Given the description of an element on the screen output the (x, y) to click on. 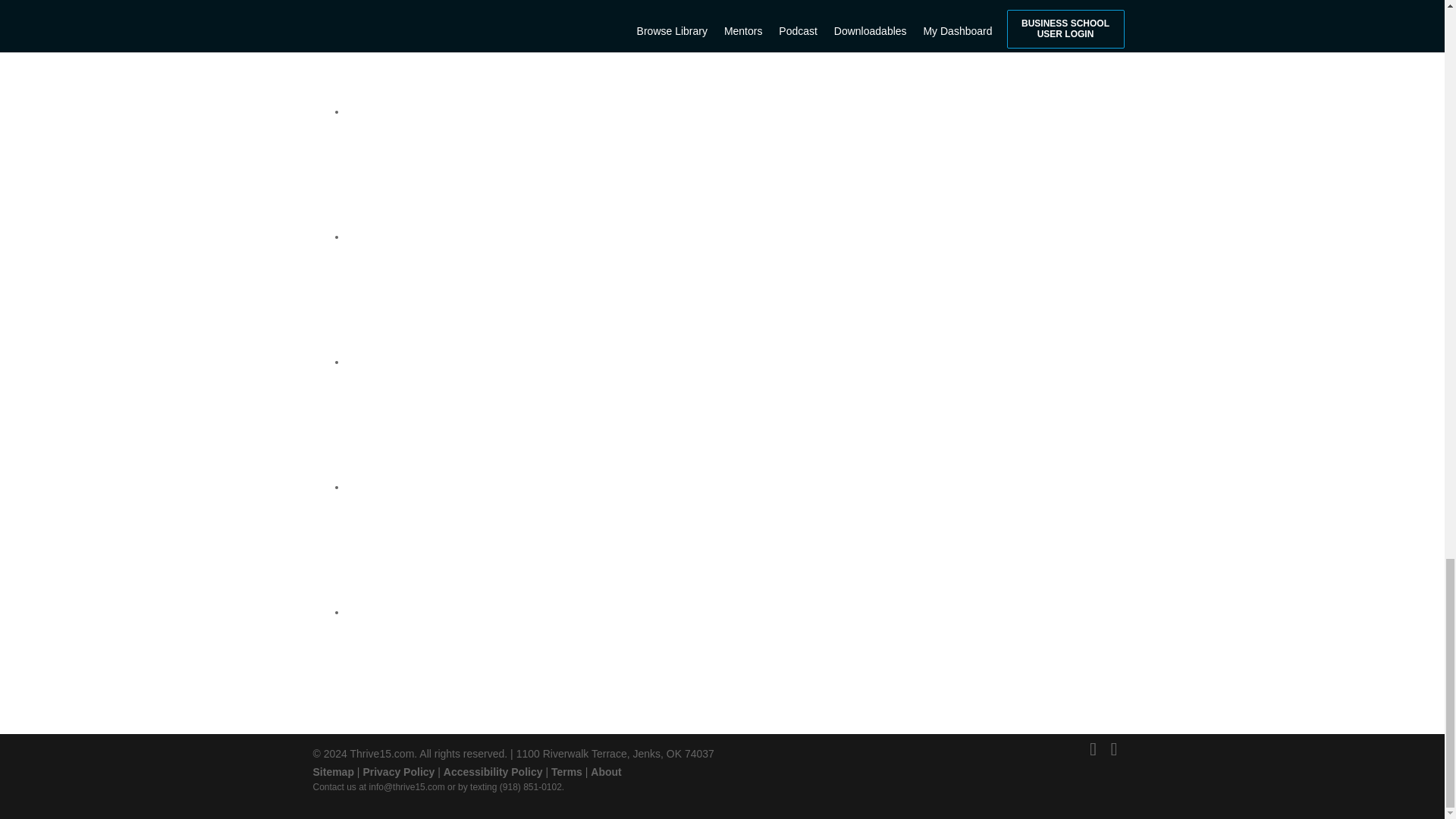
Terms (566, 771)
Accessibility Policy (493, 771)
About (606, 771)
Privacy Policy (397, 771)
Sitemap (333, 771)
